Given the description of an element on the screen output the (x, y) to click on. 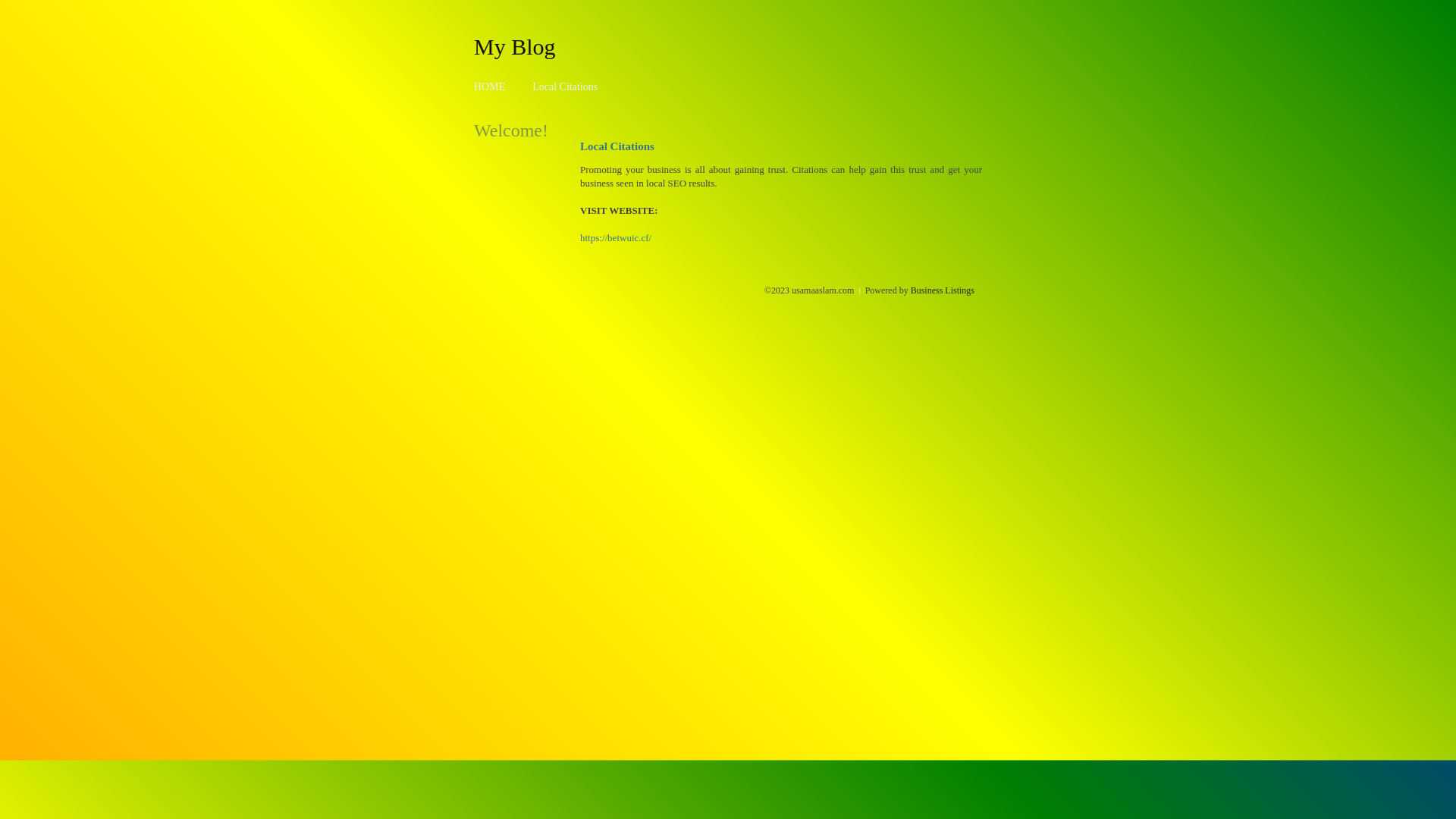
HOME Element type: text (489, 86)
Local Citations Element type: text (564, 86)
Business Listings Element type: text (942, 290)
https://betwuic.cf/ Element type: text (615, 237)
My Blog Element type: text (514, 46)
